Given the description of an element on the screen output the (x, y) to click on. 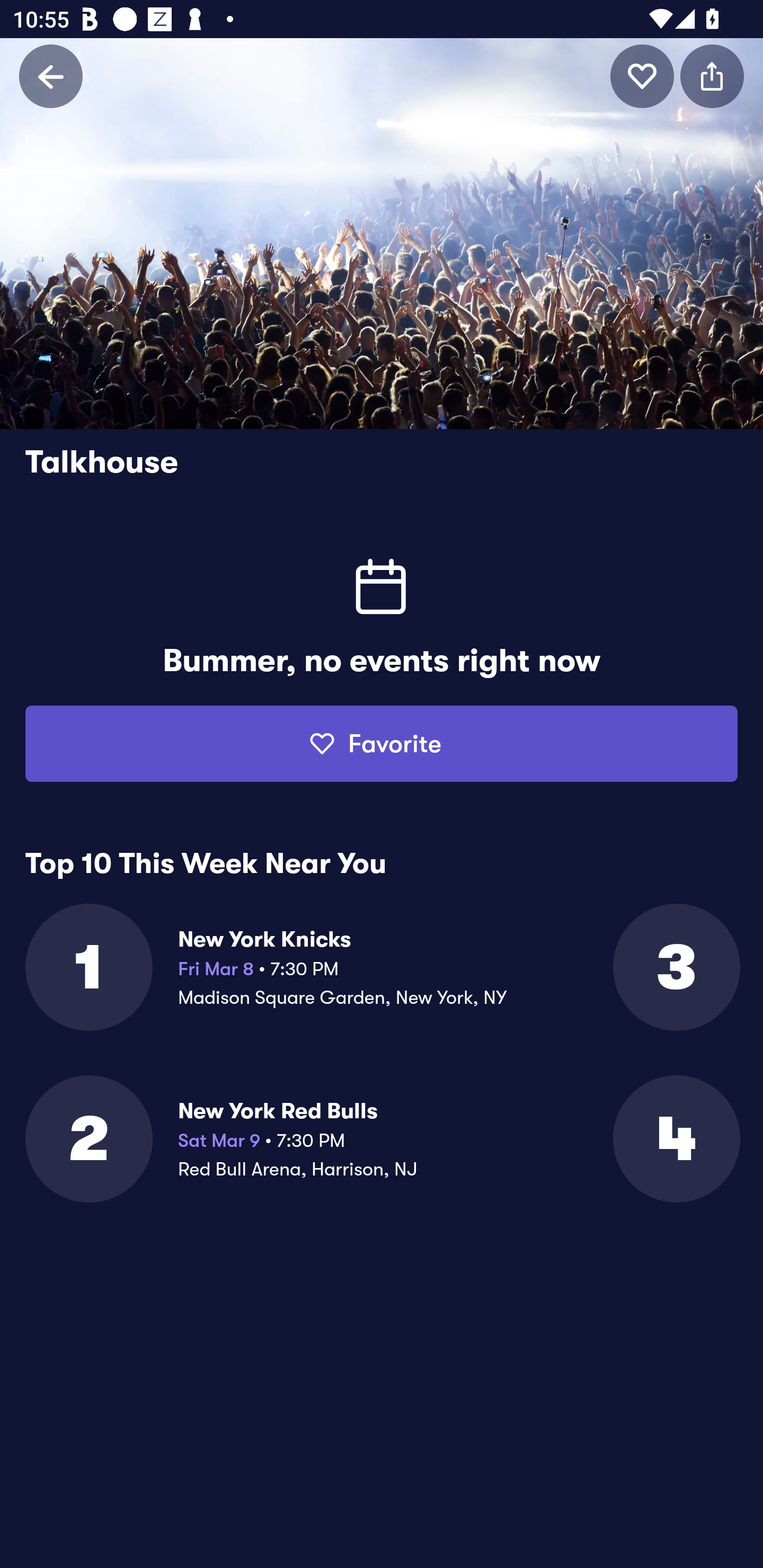
Back (50, 75)
icon button (641, 75)
icon button (711, 75)
Favorite (381, 743)
3 (675, 967)
4 (675, 1138)
